Given the description of an element on the screen output the (x, y) to click on. 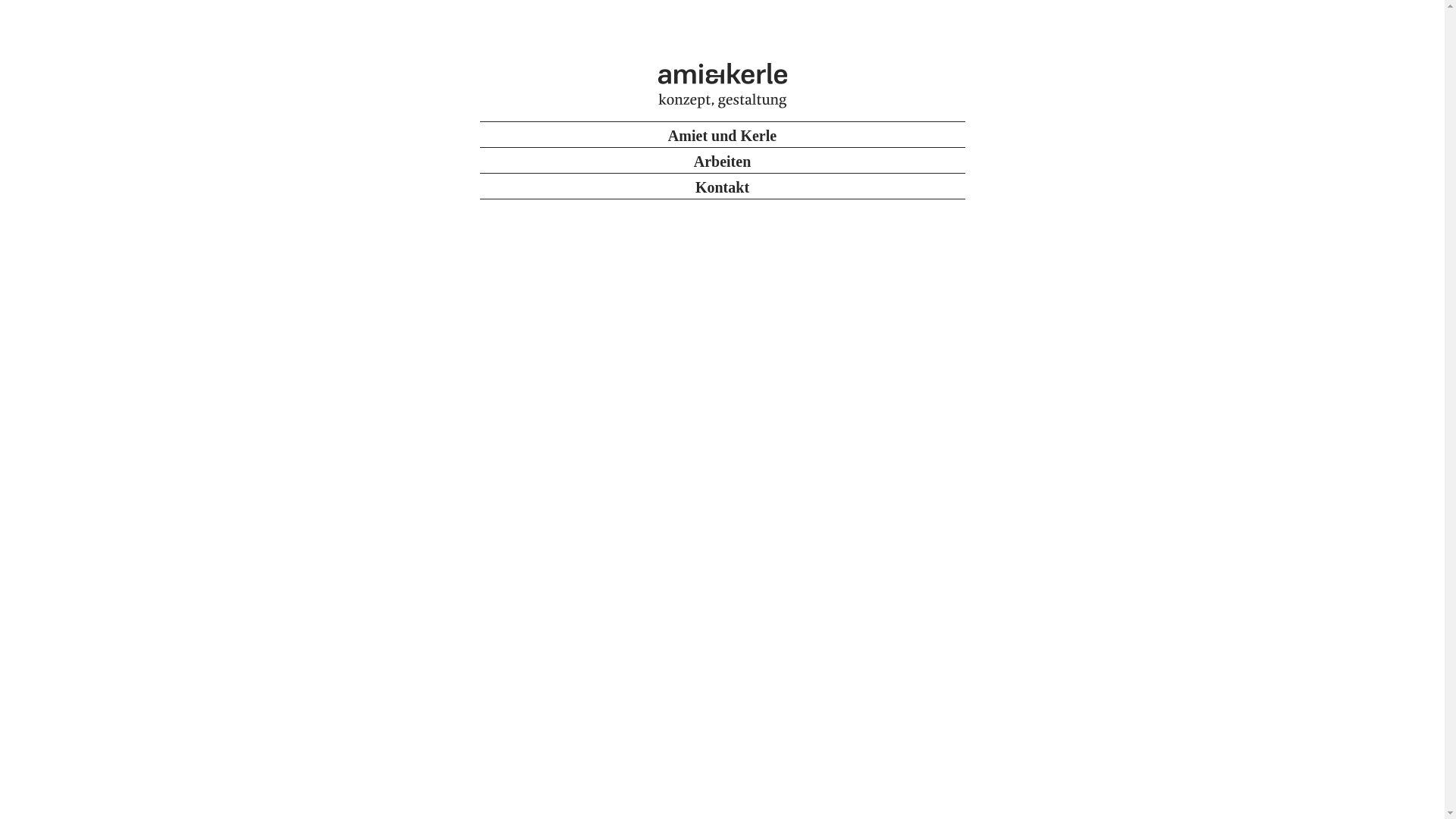
Arbeiten Element type: text (721, 159)
Kontakt Element type: text (721, 185)
Amiet und Kerle Element type: text (721, 134)
